Given the description of an element on the screen output the (x, y) to click on. 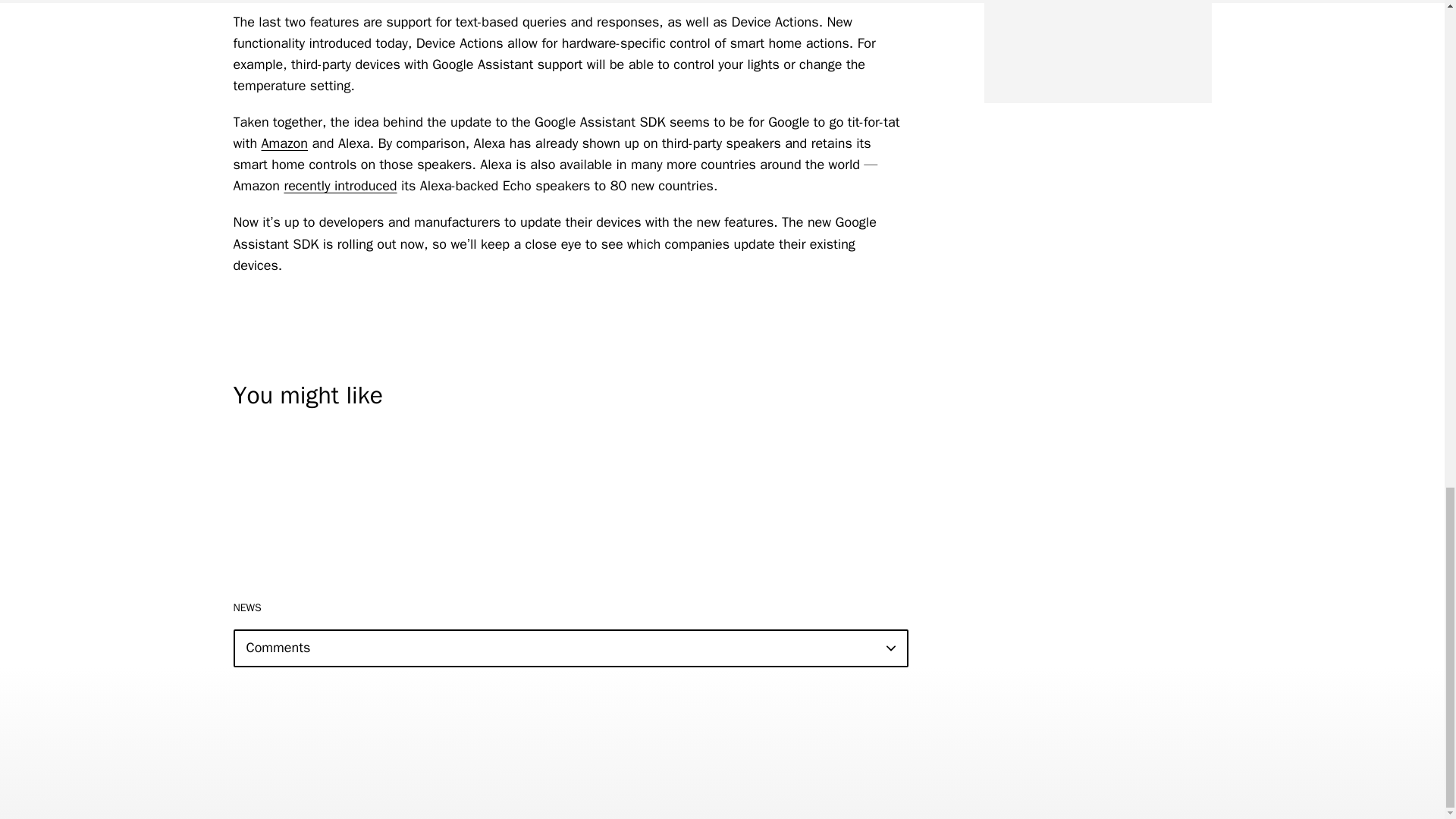
recently introduced (339, 185)
Amazon (285, 143)
NEWS (247, 607)
Comments (570, 648)
